Given the description of an element on the screen output the (x, y) to click on. 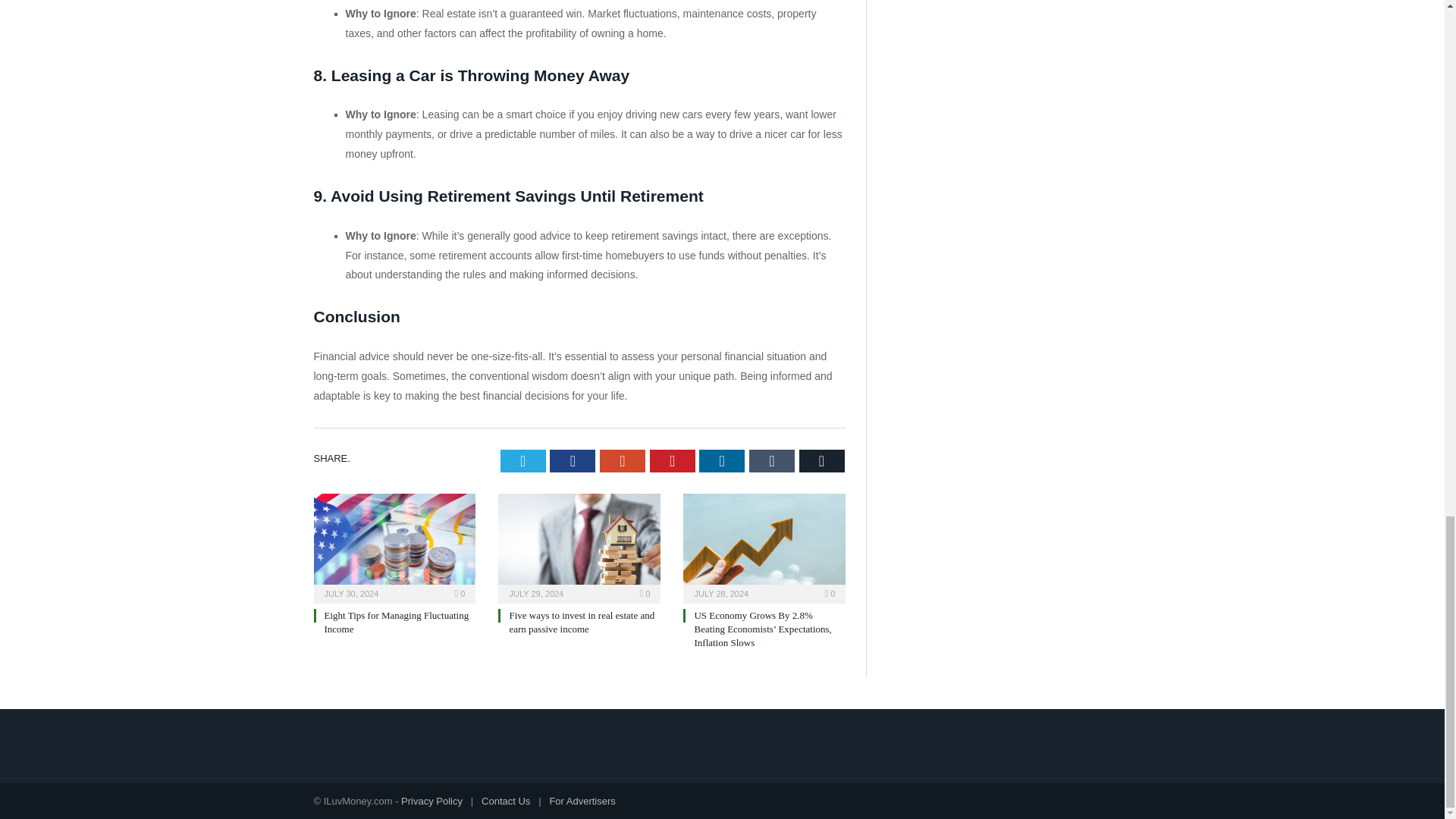
Eight Tips for Managing Fluctuating Income (580, 635)
5 Tips For A Successful Mid-Career Change (394, 635)
Pinterest (672, 474)
Email (821, 474)
LinkedIn (721, 474)
Facebook (572, 474)
Twitter (523, 474)
Tumblr (771, 474)
